Given the description of an element on the screen output the (x, y) to click on. 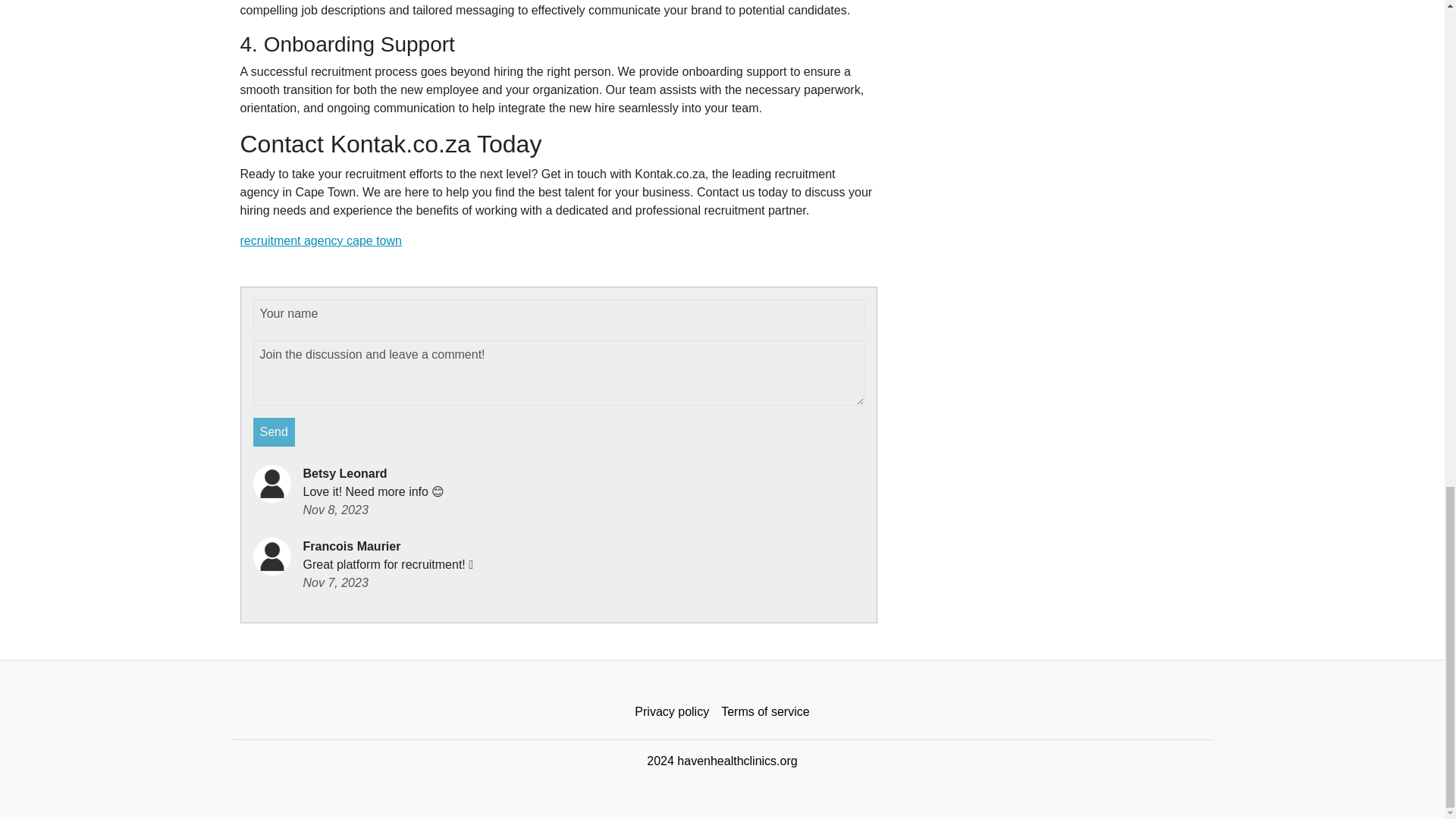
Terms of service (764, 711)
Send (274, 431)
recruitment agency cape town (320, 240)
Privacy policy (671, 711)
Send (274, 431)
